Given the description of an element on the screen output the (x, y) to click on. 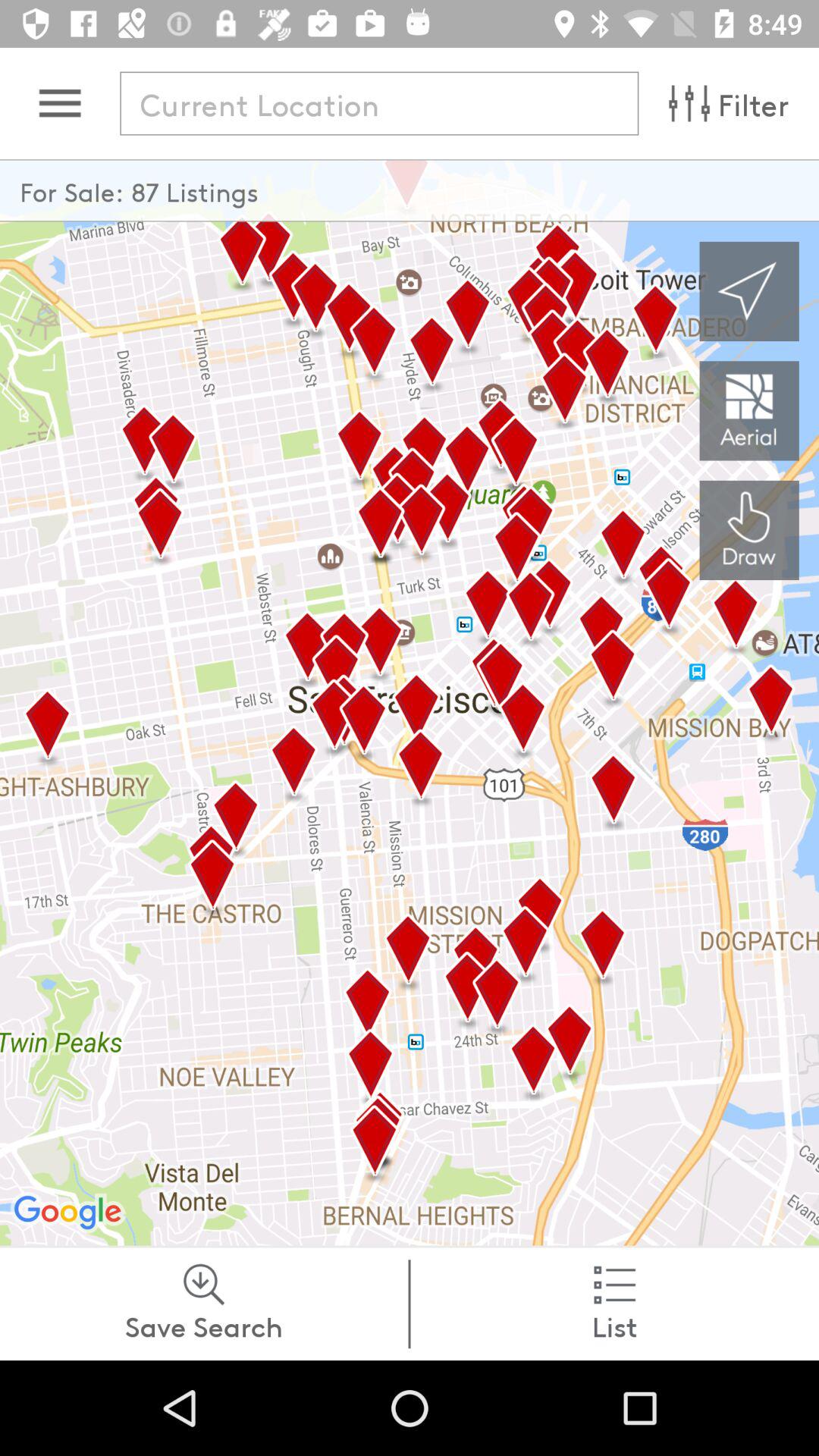
open menu (59, 103)
